Given the description of an element on the screen output the (x, y) to click on. 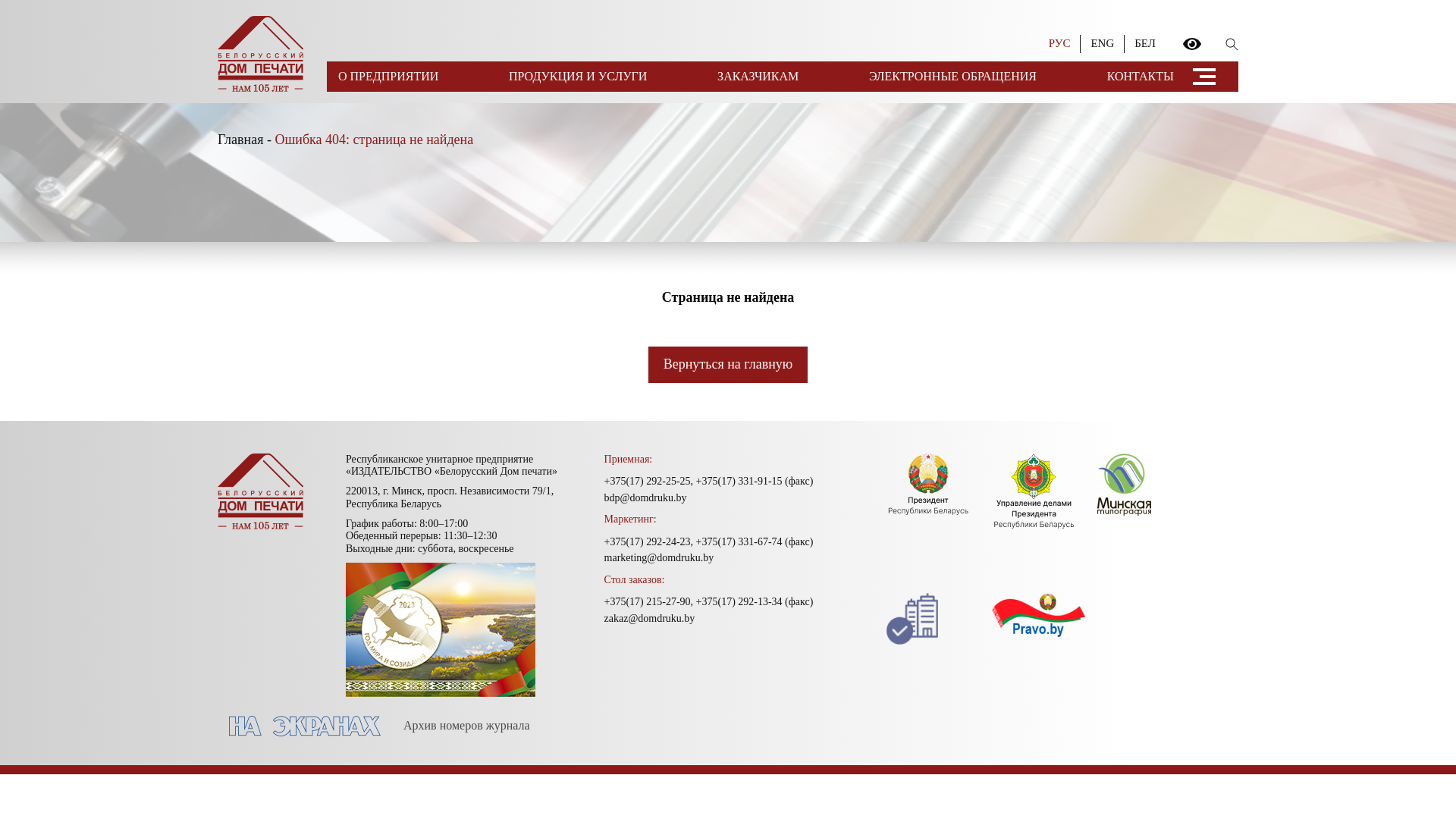
bdp@domdruku.by Element type: text (645, 497)
+375(17) 292-25-25, Element type: text (648, 480)
marketing@domdruku.by Element type: text (659, 557)
ENG Element type: text (1101, 43)
+375(17) 215-27-90, Element type: text (648, 601)
zakaz@domdruku.by Element type: text (649, 618)
+375(17) 292-24-23, Element type: text (648, 541)
